Given the description of an element on the screen output the (x, y) to click on. 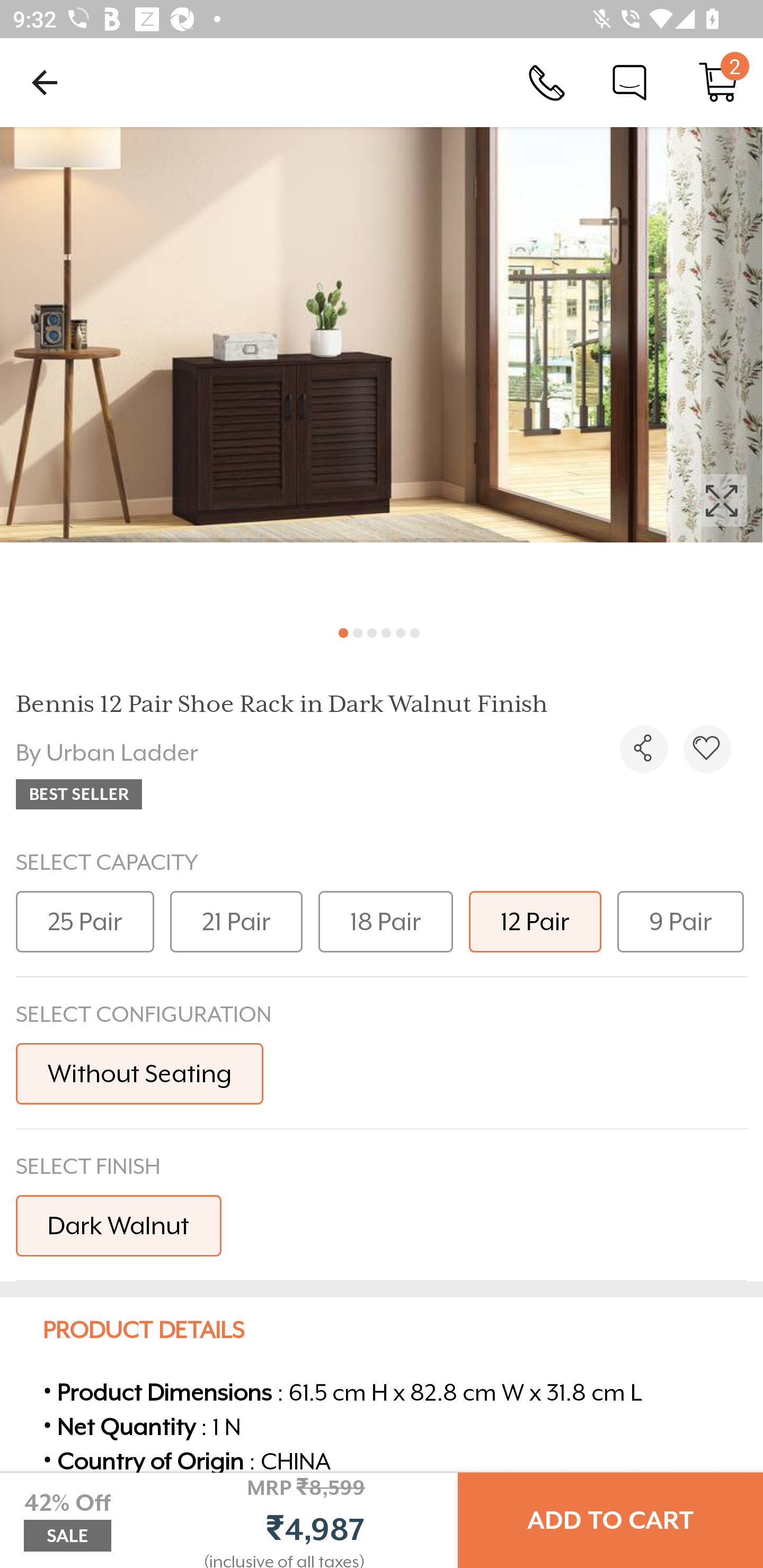
Navigate up (44, 82)
Call Us (546, 81)
Chat (629, 81)
Cart (718, 81)
 (381, 370)
 (643, 748)
 (706, 748)
25 Pair (85, 920)
21 Pair (236, 920)
18 Pair (385, 920)
12 Pair (535, 920)
9 Pair (680, 920)
Without Seating (139, 1072)
Dark Walnut (118, 1224)
ADD TO CART (610, 1520)
